Given the description of an element on the screen output the (x, y) to click on. 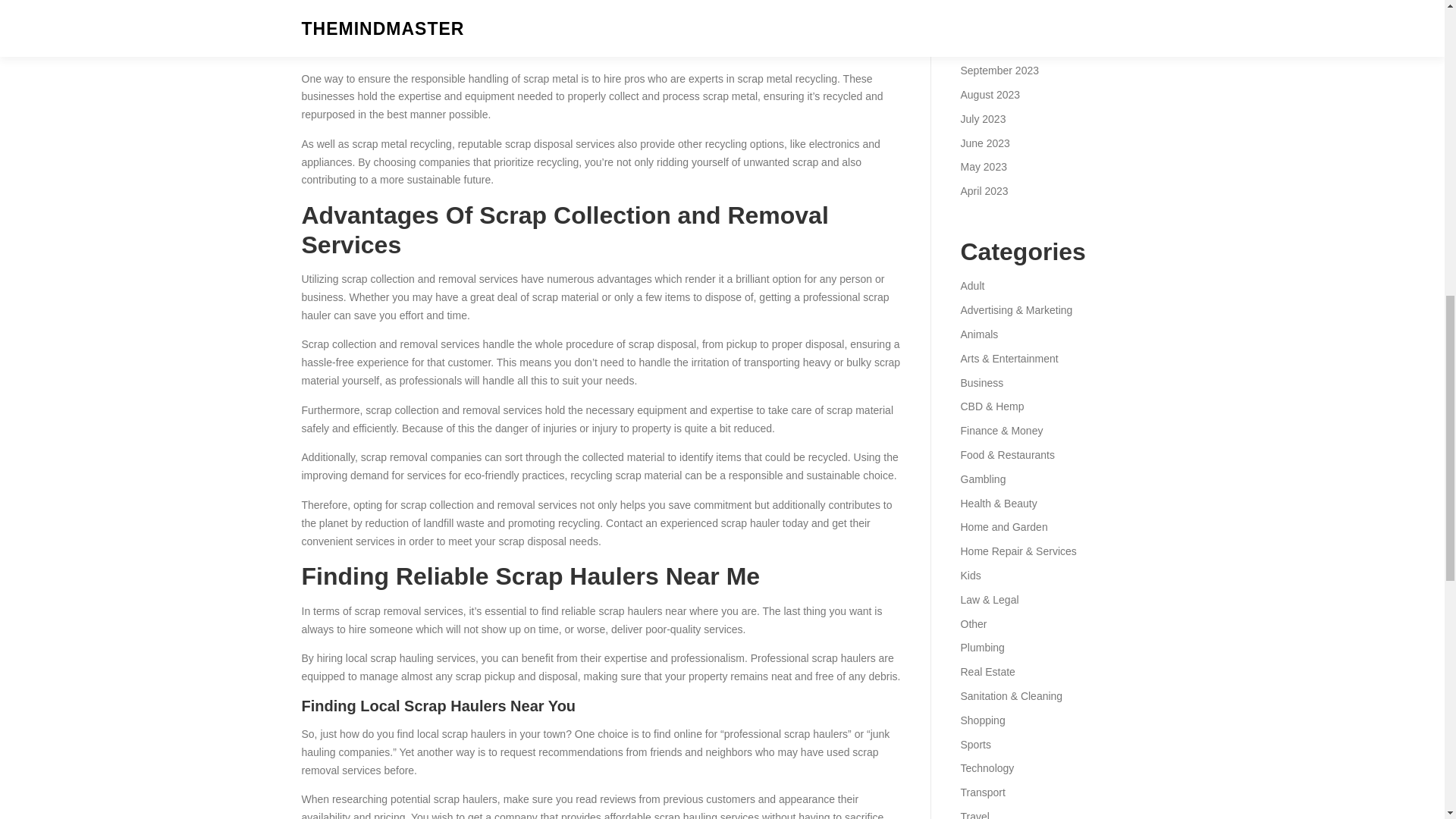
May 2023 (982, 166)
Animals (978, 334)
October 2023 (992, 46)
June 2023 (984, 143)
August 2023 (989, 94)
September 2023 (999, 70)
December 2023 (997, 2)
July 2023 (982, 119)
Business (981, 382)
April 2023 (983, 191)
Adult (971, 285)
November 2023 (997, 22)
